Given the description of an element on the screen output the (x, y) to click on. 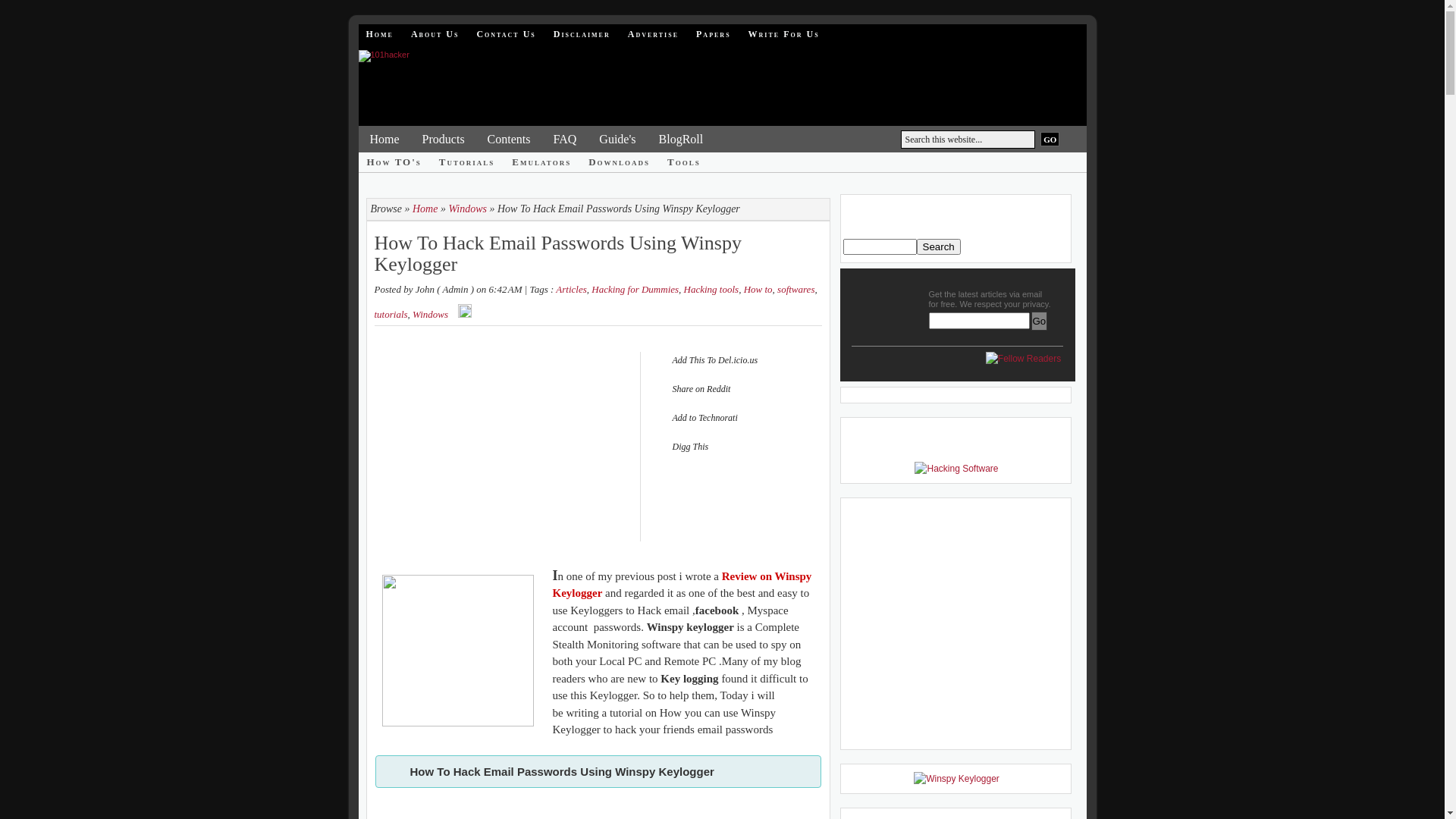
About Us Element type: text (434, 33)
Windows Element type: text (467, 208)
Contents Element type: text (509, 138)
Products Element type: text (443, 138)
Add to Technorati Element type: text (734, 417)
Contact Us Element type: text (505, 33)
Advertise Element type: text (653, 33)
search Element type: hover (938, 246)
FAQ Element type: text (564, 138)
Edit Post Element type: hover (464, 314)
Review on Winspy Keylogger Element type: text (681, 584)
Windows Element type: text (430, 314)
softwares Element type: text (795, 288)
Digg This Element type: text (734, 446)
Disclaimer Element type: text (582, 33)
Emulators Element type: text (541, 161)
search Element type: hover (879, 246)
Find Us On Facebook Element type: hover (916, 364)
Add This To Del.icio.us Element type: text (734, 359)
hacking software  Element type: hover (955, 468)
Write For Us Element type: text (783, 33)
How To Hack Email Passwords Using Winspy Keylogger Element type: text (557, 249)
tutorials Element type: text (390, 314)
Guide's Element type: text (616, 138)
Search Element type: text (938, 246)
Follow Me On Twitter Element type: hover (864, 364)
Home Element type: text (383, 138)
Home Element type: text (424, 208)
How to Element type: text (757, 288)
Tools Element type: text (683, 161)
Tutorials Element type: text (466, 161)
GO Element type: text (1049, 138)
Stumble Upon EAB Element type: hover (890, 364)
Downloads Element type: text (618, 161)
Subscribe Via RSS Element type: hover (942, 364)
Go Element type: text (1039, 320)
Articles Element type: text (570, 288)
Share on Reddit Element type: text (734, 388)
Home Element type: text (378, 33)
Hacking for Dummies Element type: text (634, 288)
How TO's Element type: text (394, 161)
Papers Element type: text (713, 33)
BlogRoll Element type: text (681, 138)
Save On Del.icio.us Element type: hover (968, 364)
Hacking tools Element type: text (711, 288)
